Given the description of an element on the screen output the (x, y) to click on. 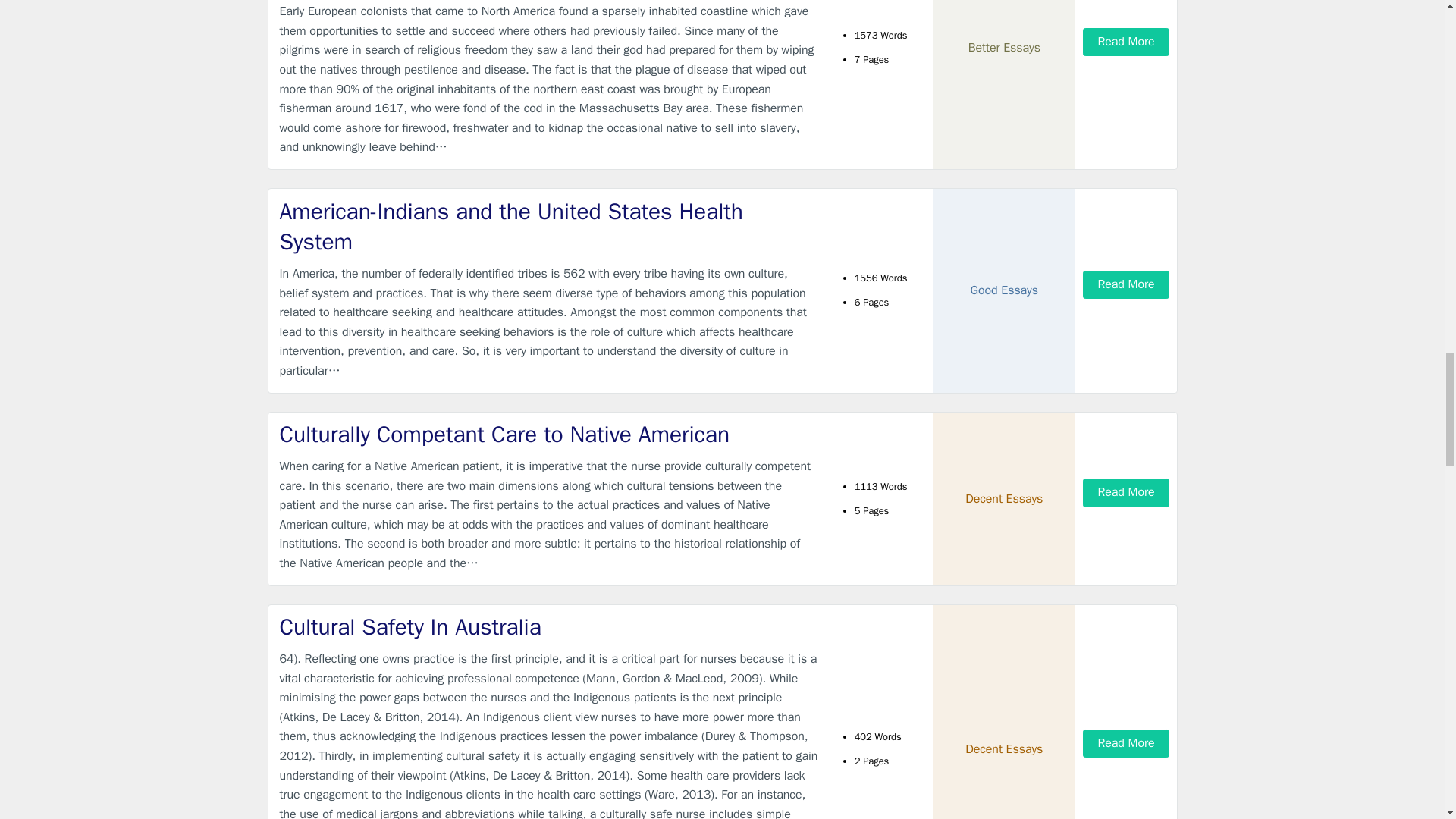
Culturally Competant Care to Native American (548, 434)
Read More (1126, 743)
American-Indians and the United States Health System (548, 226)
Read More (1126, 284)
Read More (1126, 492)
Cultural Safety In Australia (548, 626)
Read More (1126, 41)
